Given the description of an element on the screen output the (x, y) to click on. 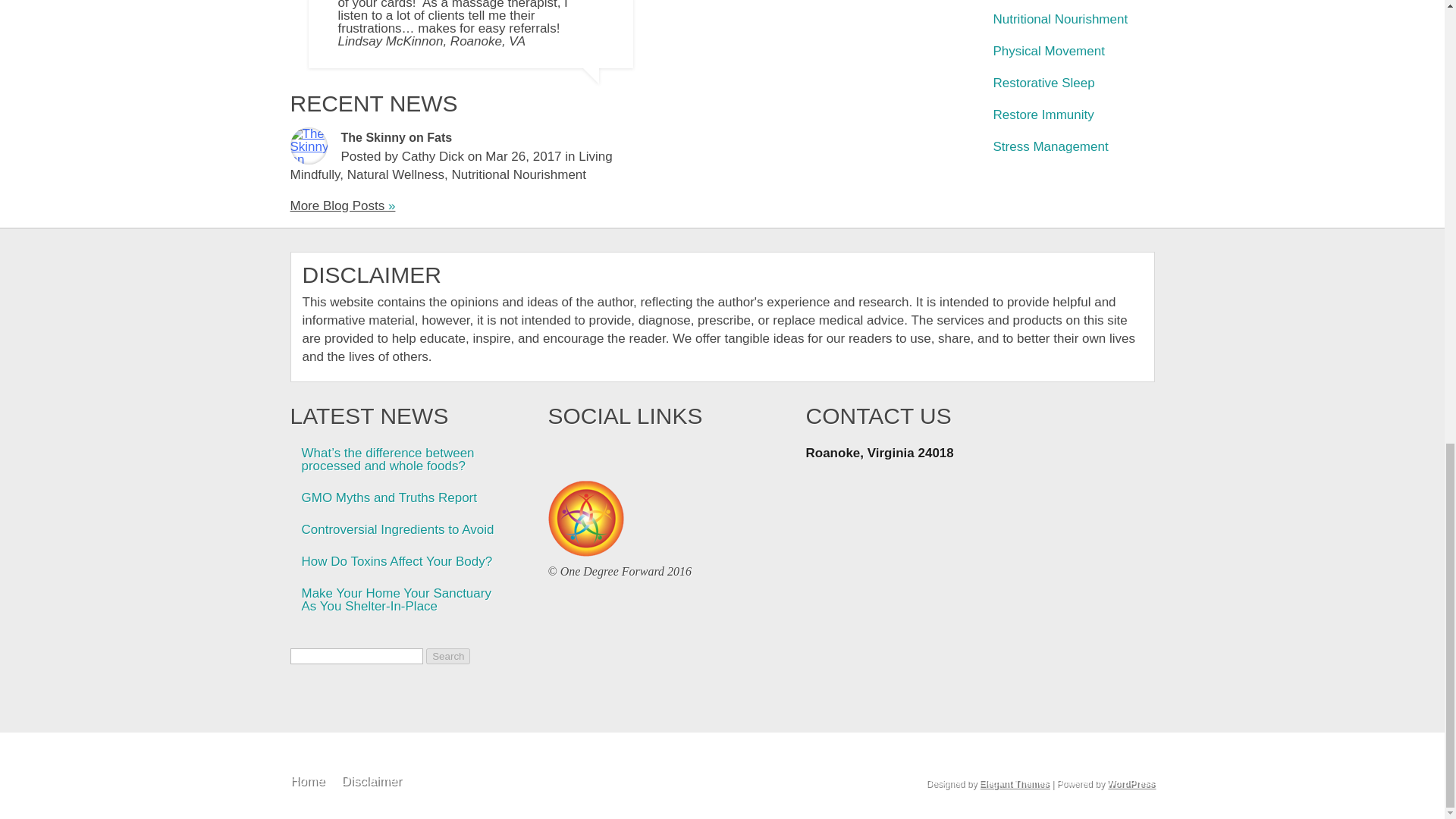
The Skinny on Fats (396, 137)
Premium WordPress Themes (1013, 783)
Search (448, 656)
Nutritional Nourishment (518, 174)
Natural Wellness (395, 174)
Living Mindfully (450, 165)
Cathy Dick (432, 156)
